Given the description of an element on the screen output the (x, y) to click on. 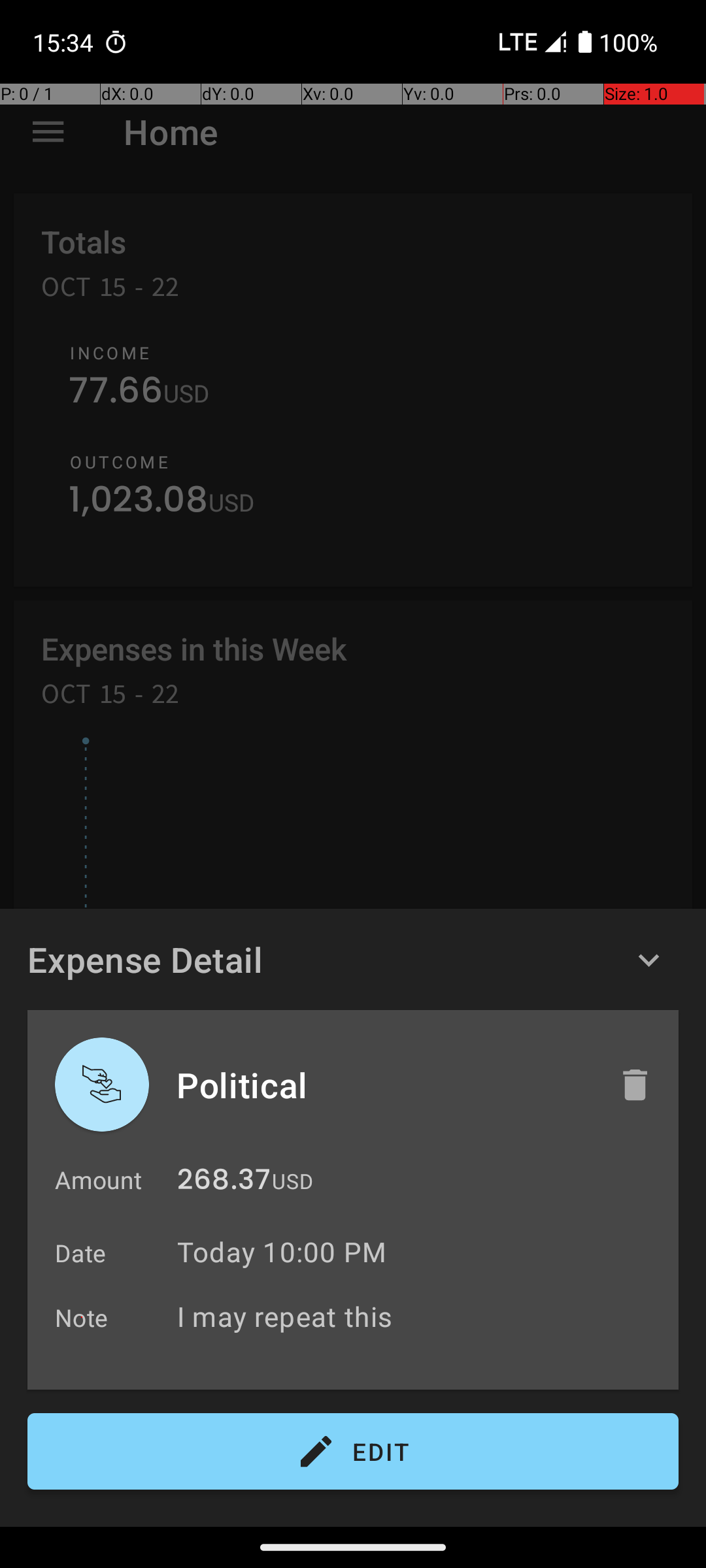
Political Element type: android.widget.TextView (383, 1084)
268.37 Element type: android.widget.TextView (223, 1182)
Today 10:00 PM Element type: android.widget.TextView (281, 1251)
